Given the description of an element on the screen output the (x, y) to click on. 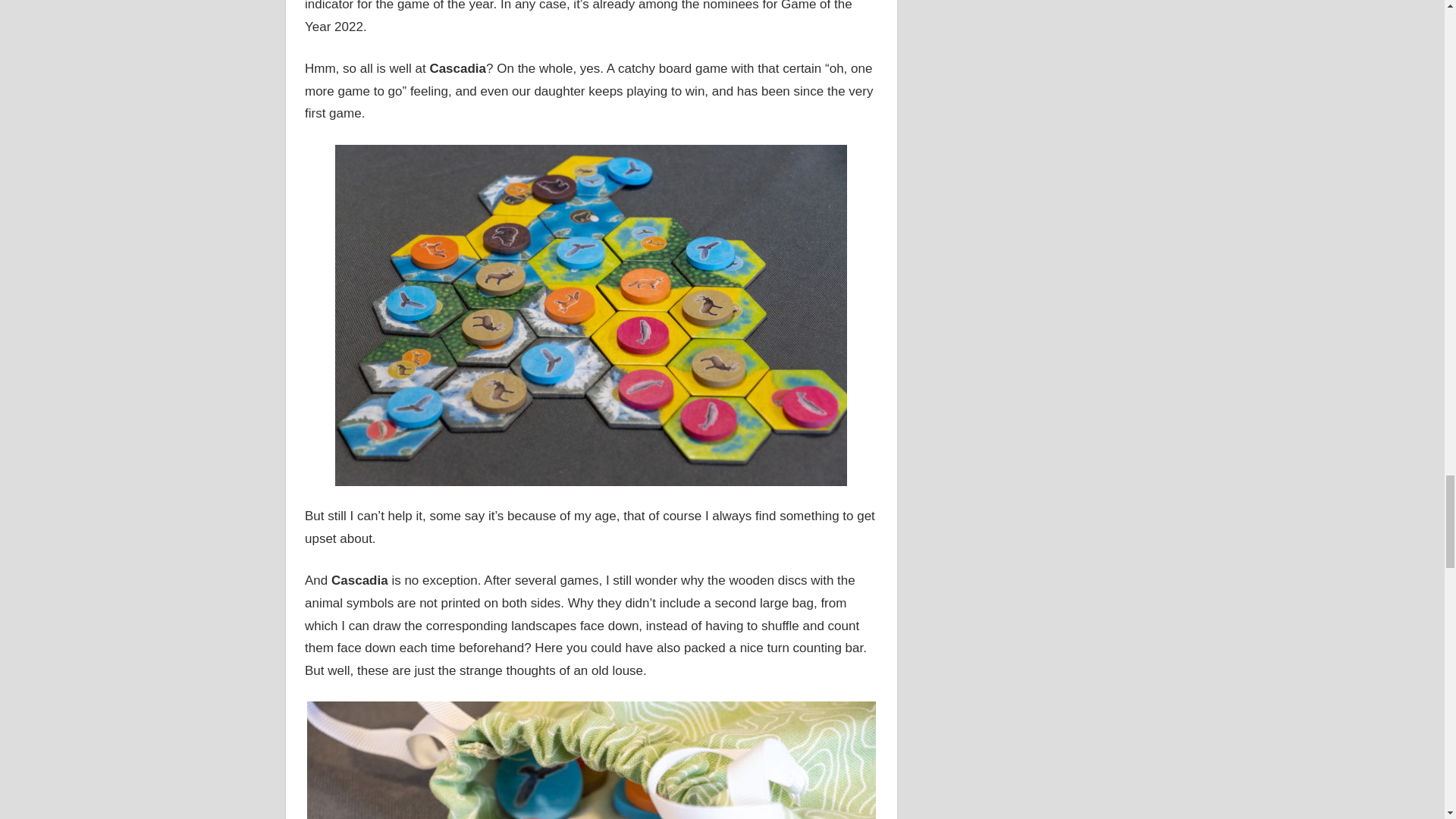
Cascadia Board Game Animals (591, 760)
